Given the description of an element on the screen output the (x, y) to click on. 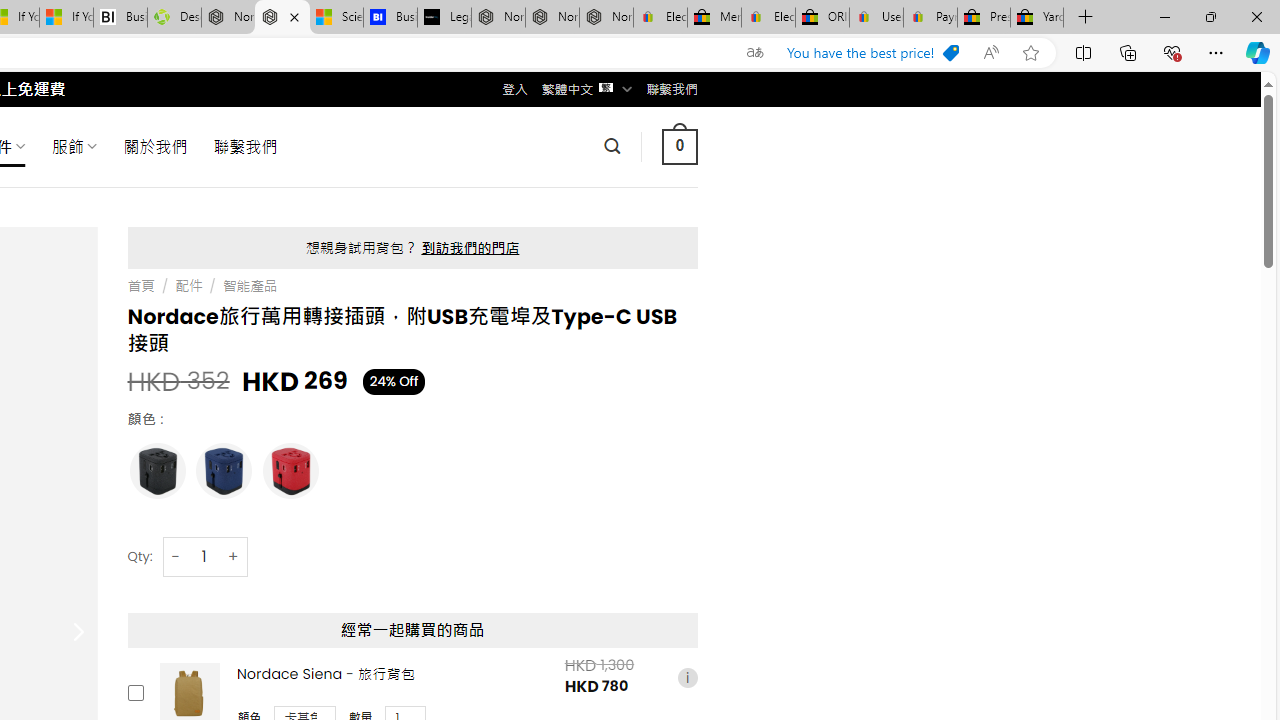
You have the best price! (872, 53)
Press Room - eBay Inc. (983, 17)
+ (234, 555)
